Given the description of an element on the screen output the (x, y) to click on. 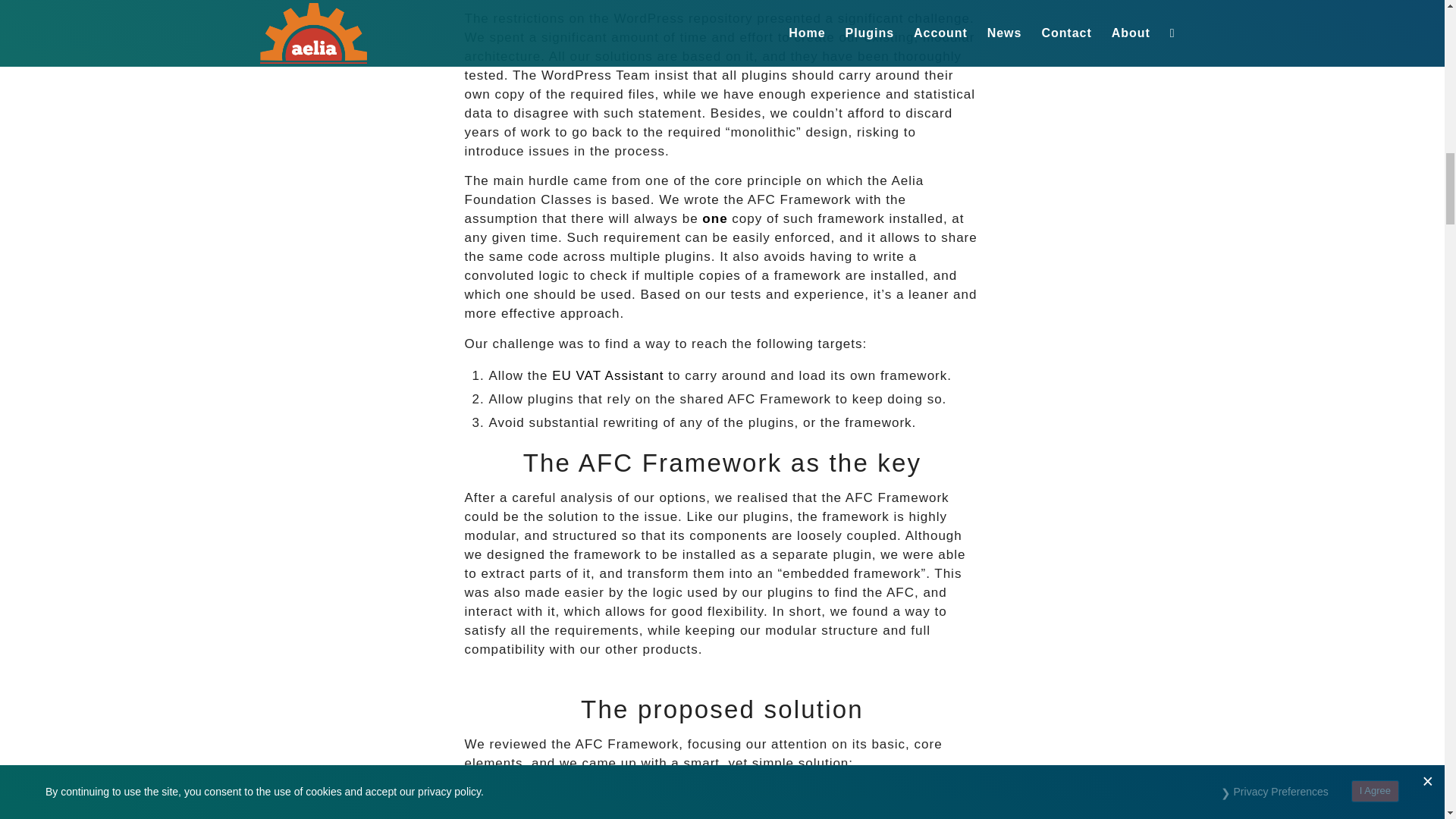
EU VAT Assistant (607, 375)
